Given the description of an element on the screen output the (x, y) to click on. 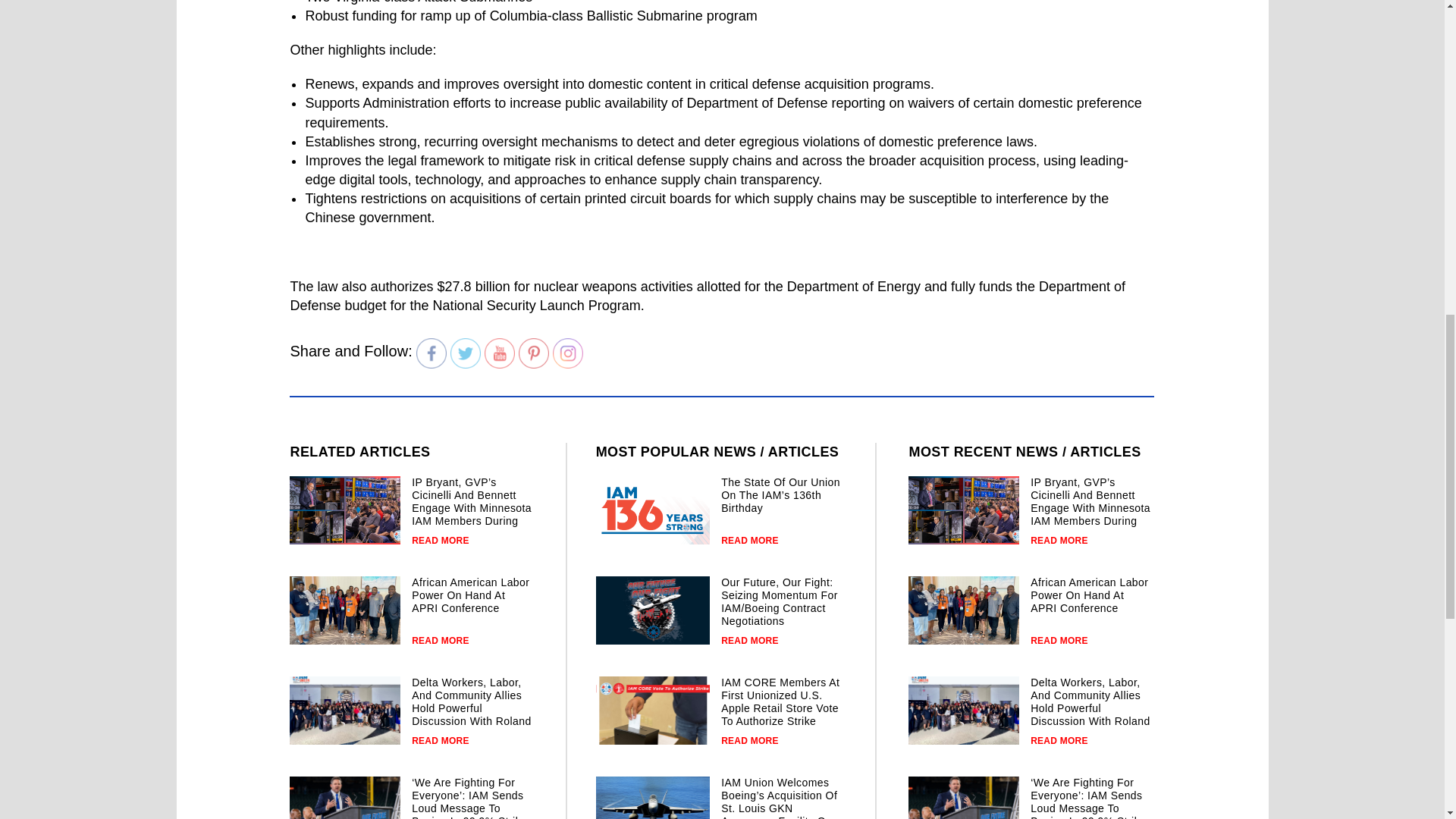
Instagram (568, 353)
Twitter (464, 353)
YouTube (499, 353)
Pinterest (533, 353)
Facebook (431, 353)
